Given the description of an element on the screen output the (x, y) to click on. 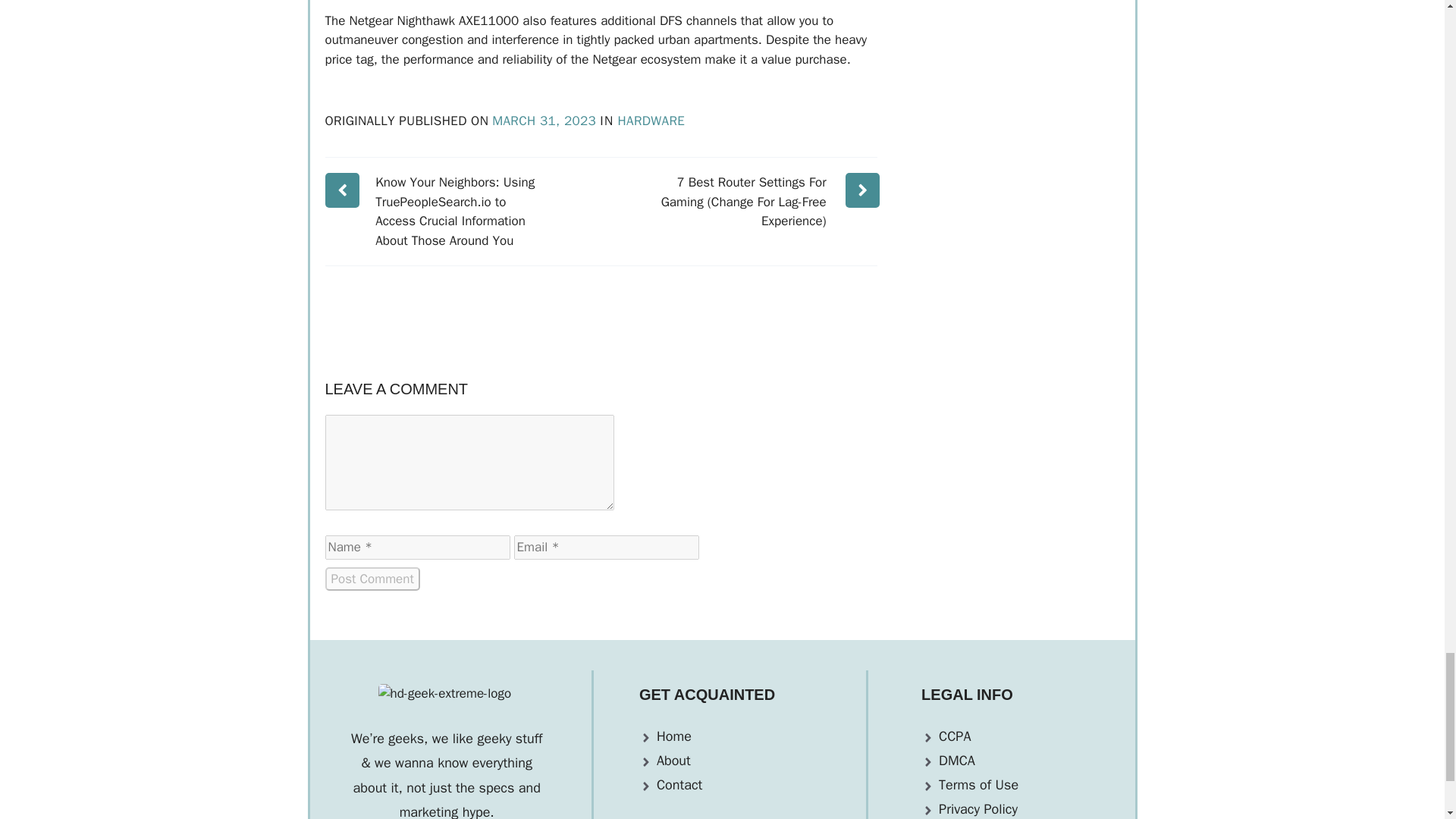
Post Comment (371, 579)
